Given the description of an element on the screen output the (x, y) to click on. 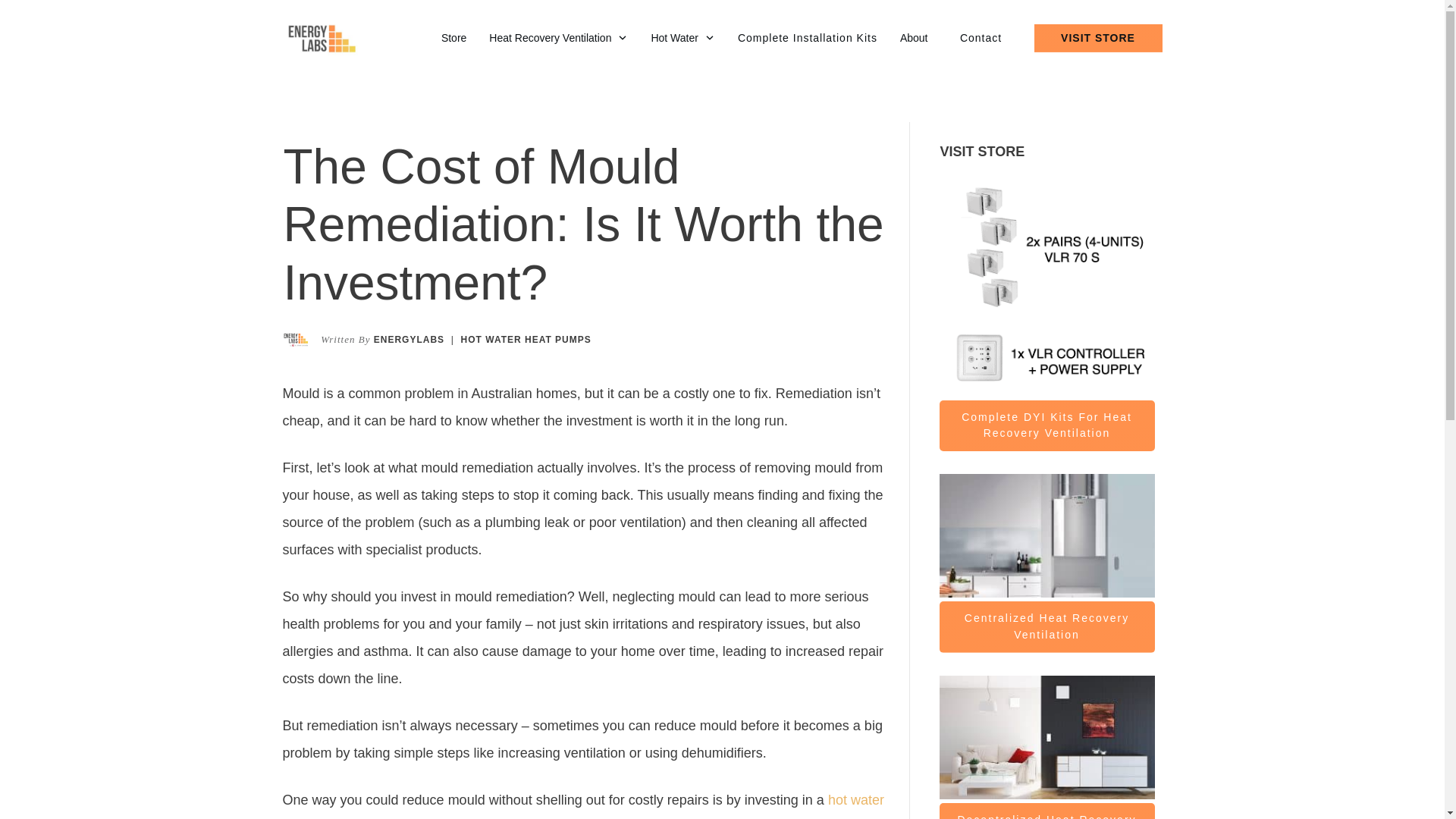
energylabs-1982507127 (1046, 536)
ENERGYLABS (409, 339)
energylabs-1987956286 (1046, 737)
Complete Installation Kits (807, 37)
Hot Water Heat Pumps (526, 339)
Heat Recovery Ventilation (558, 37)
Text Only 02 (294, 339)
Complete DYI Kits For Heat Recovery Ventilation (1046, 425)
hot water heat pump (582, 805)
Contact (980, 37)
Hot Water (682, 37)
HOT WATER HEAT PUMPS (526, 339)
About (913, 37)
energylabs-heat-recovery-ventilation-decentralised-D2-HRV (1046, 288)
VISIT STORE (1097, 38)
